Given the description of an element on the screen output the (x, y) to click on. 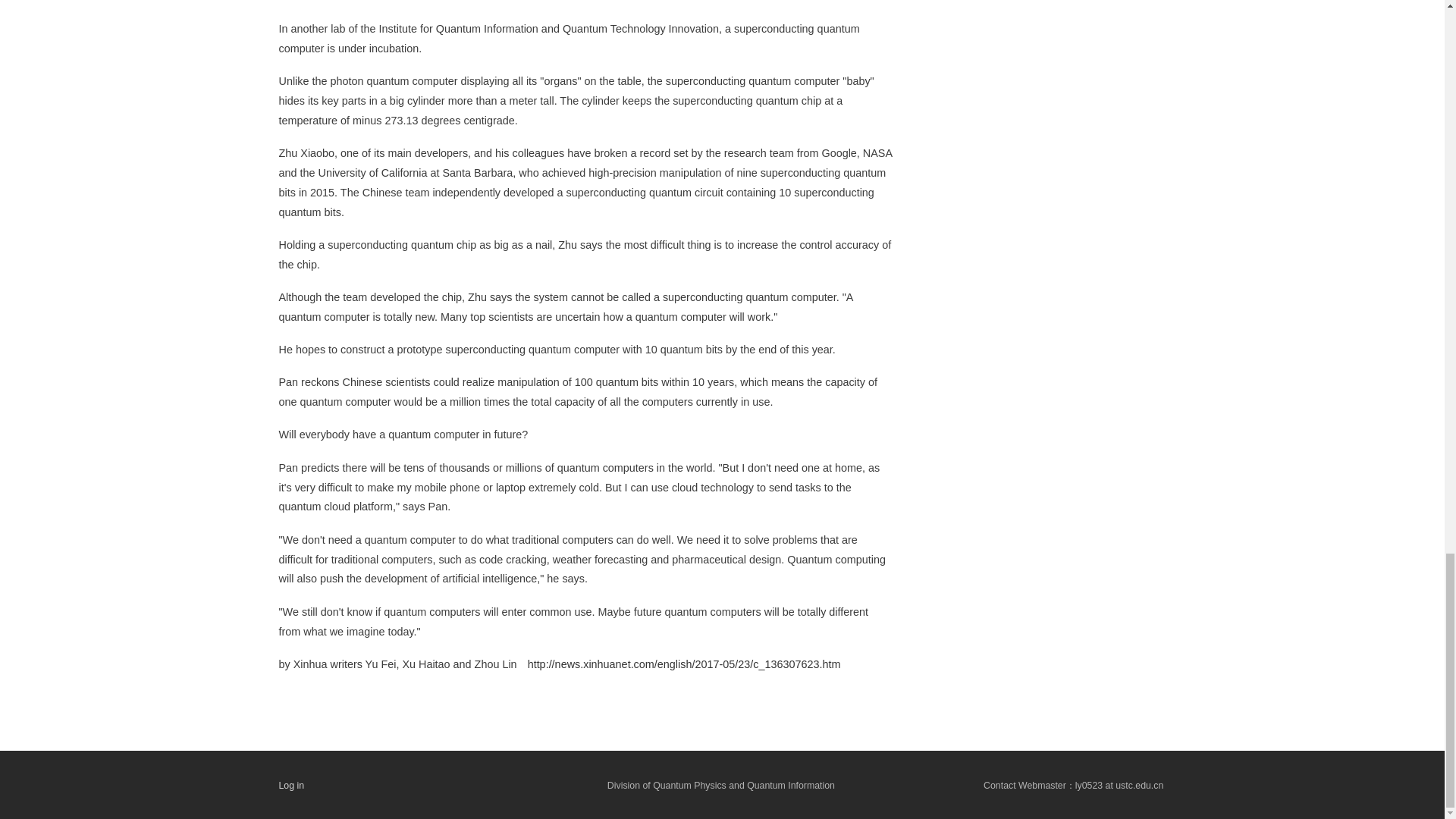
Log in (291, 785)
